Given the description of an element on the screen output the (x, y) to click on. 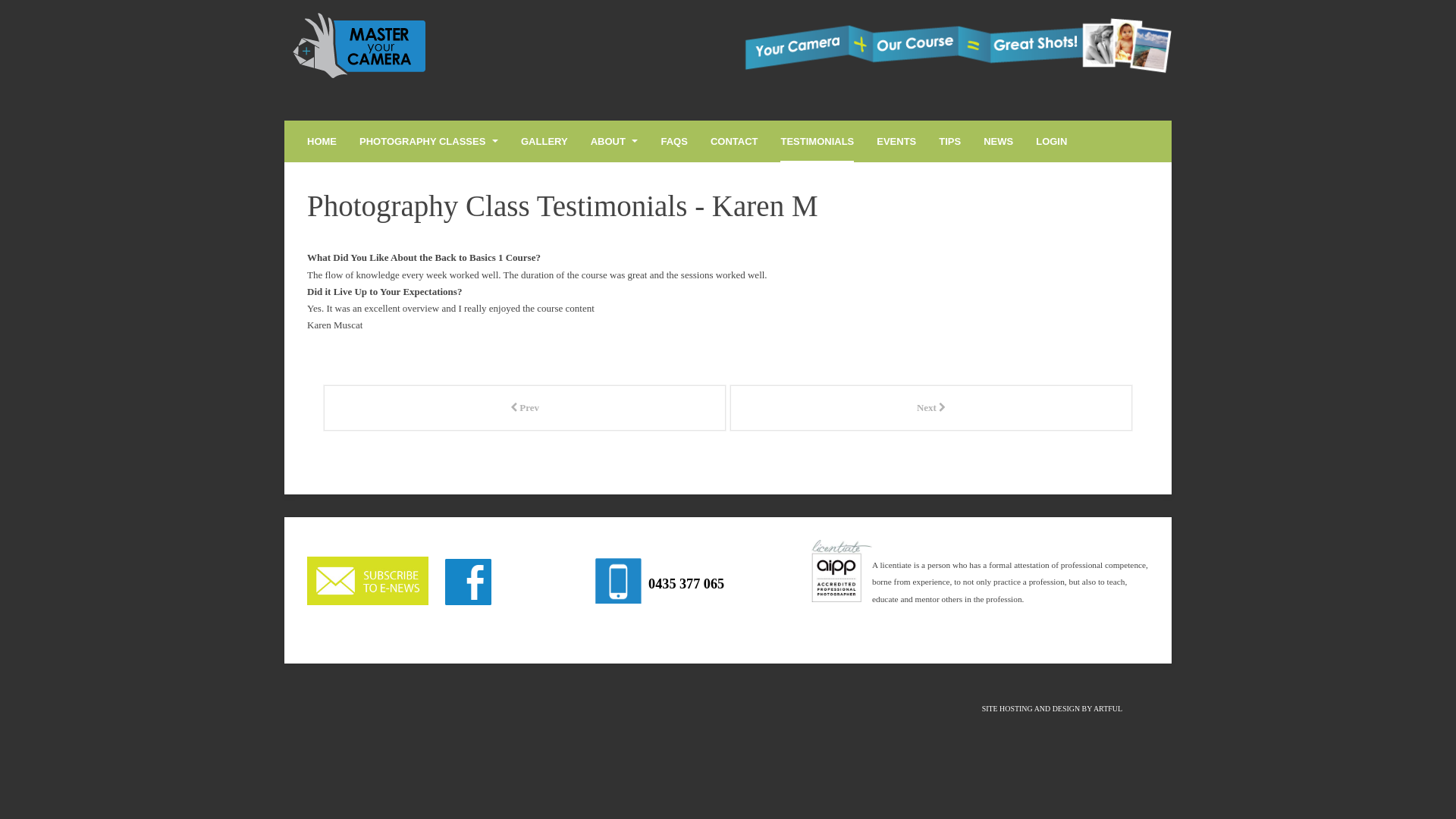
HOME Element type: text (321, 141)
TIPS Element type: text (949, 141)
Photography Class Testimonials - Karen M Element type: text (562, 205)
PHOTOGRAPHY CLASSES Element type: text (428, 141)
LOGIN Element type: text (1050, 141)
  0435 377 065 Element type: text (682, 584)
TESTIMONIALS Element type: text (816, 141)
EVENTS Element type: text (896, 141)
Prev Element type: text (524, 408)
CONTACT Element type: text (734, 141)
FAQS Element type: text (673, 141)
NEWS Element type: text (998, 141)
Next Element type: text (931, 408)
GALLERY Element type: text (543, 141)
SITE HOSTING AND DESIGN BY ARTFUL Element type: text (1052, 709)
ABOUT Element type: text (614, 141)
